Given the description of an element on the screen output the (x, y) to click on. 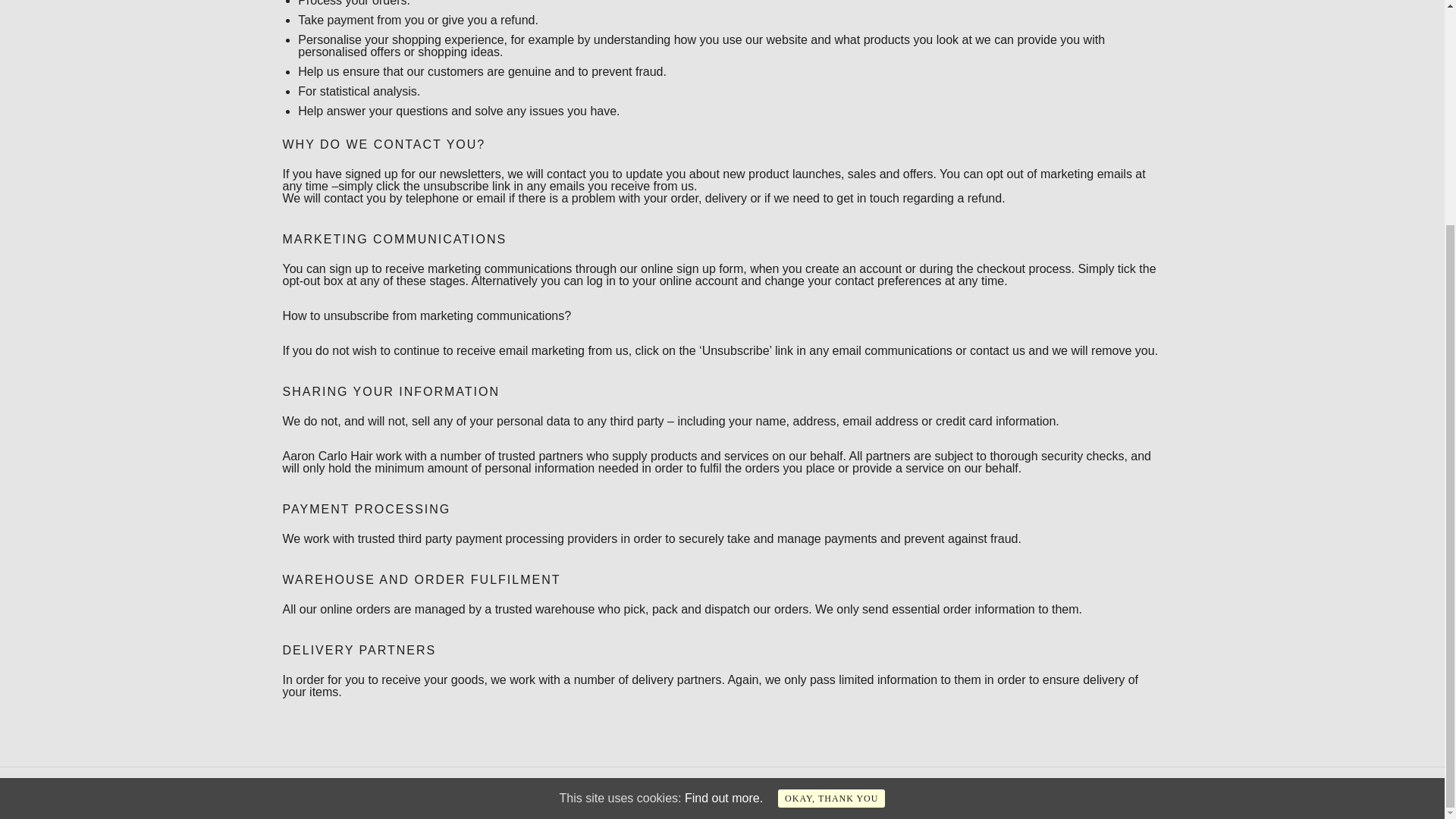
CONTACT (502, 793)
RETURN POLICY (424, 793)
Find out more. (723, 496)
OKAY, THANK YOU (831, 497)
PRIVACY POLICY (327, 793)
